Given the description of an element on the screen output the (x, y) to click on. 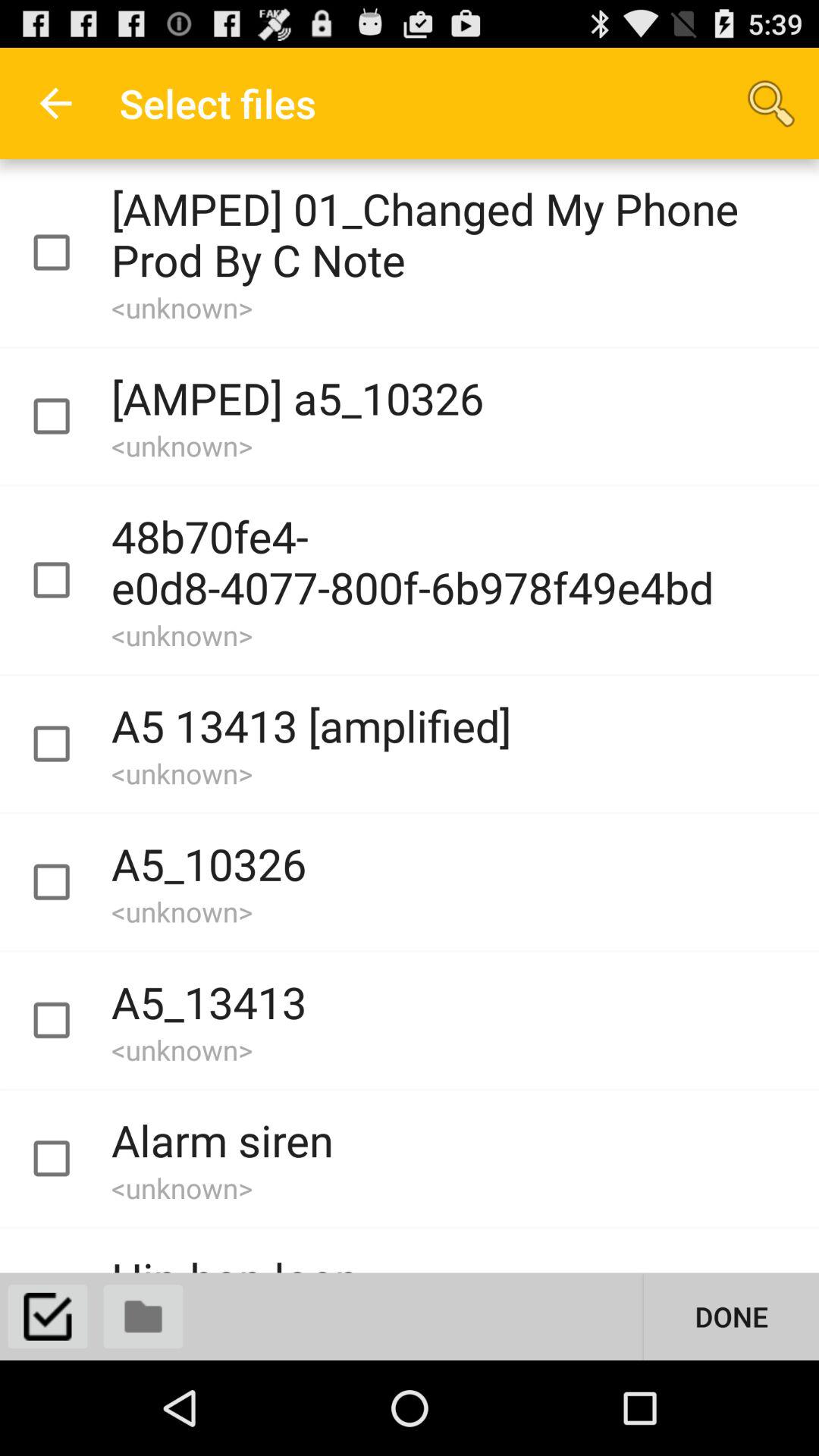
file select button (65, 580)
